Given the description of an element on the screen output the (x, y) to click on. 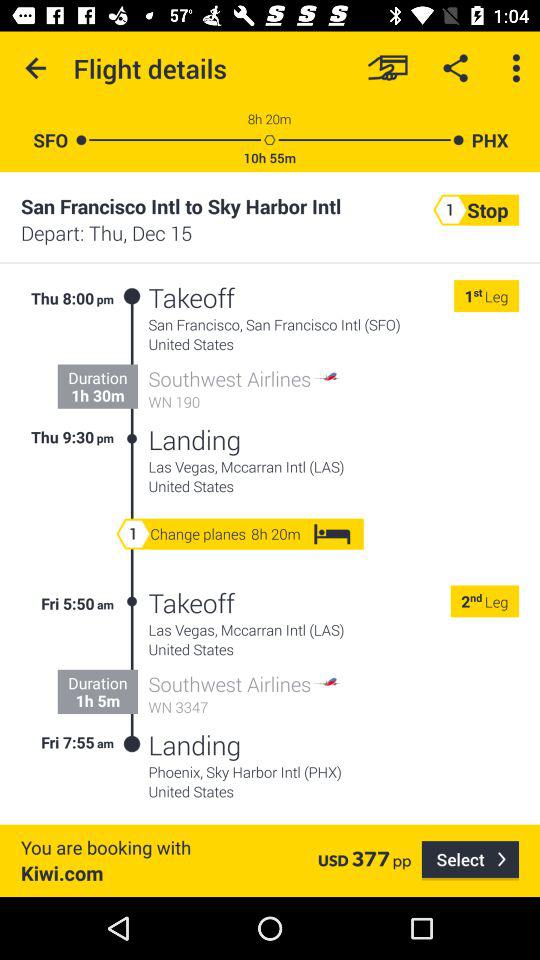
launch icon to the right of duration icon (131, 673)
